Given the description of an element on the screen output the (x, y) to click on. 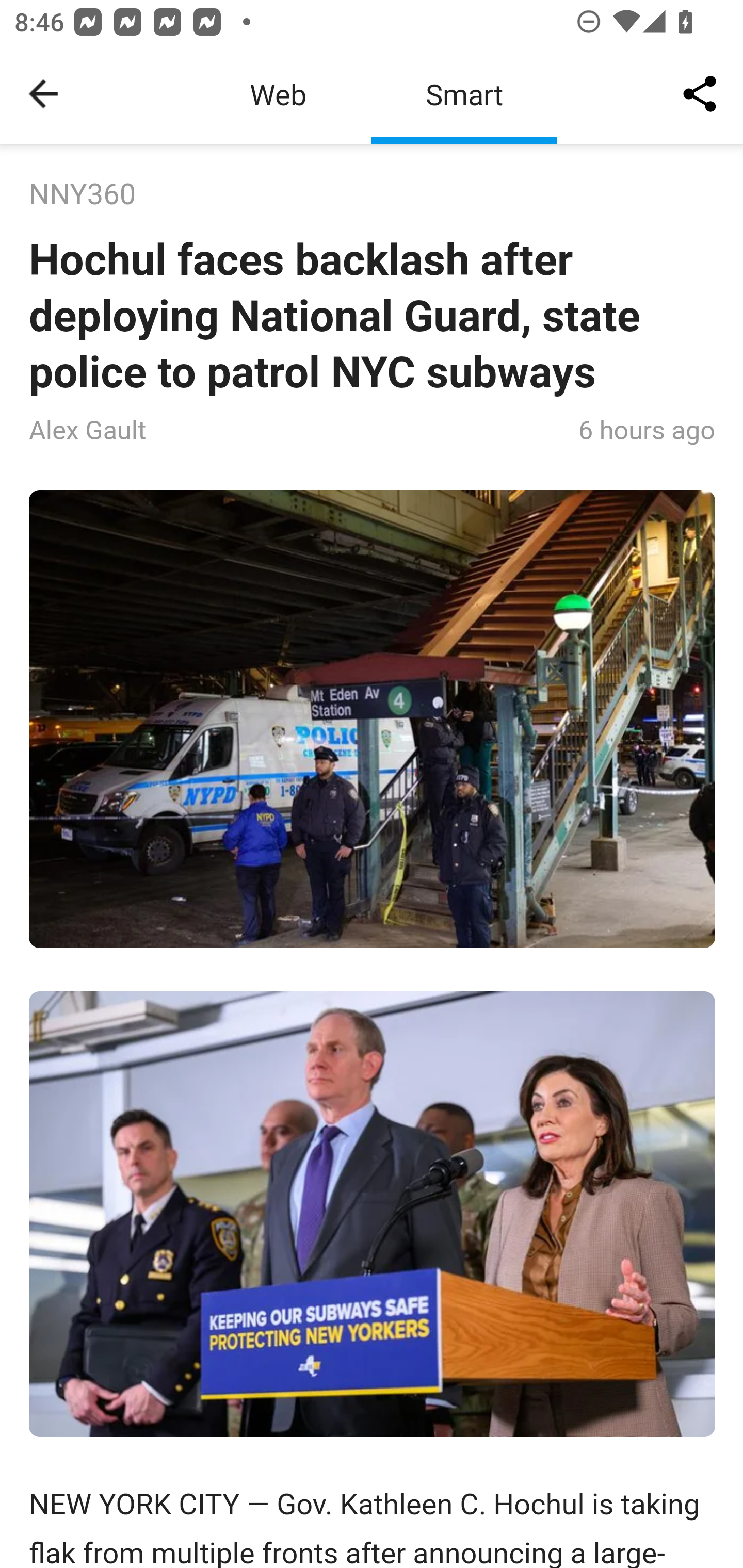
Web (277, 93)
Smart (464, 93)
NNY360 (82, 195)
